Given the description of an element on the screen output the (x, y) to click on. 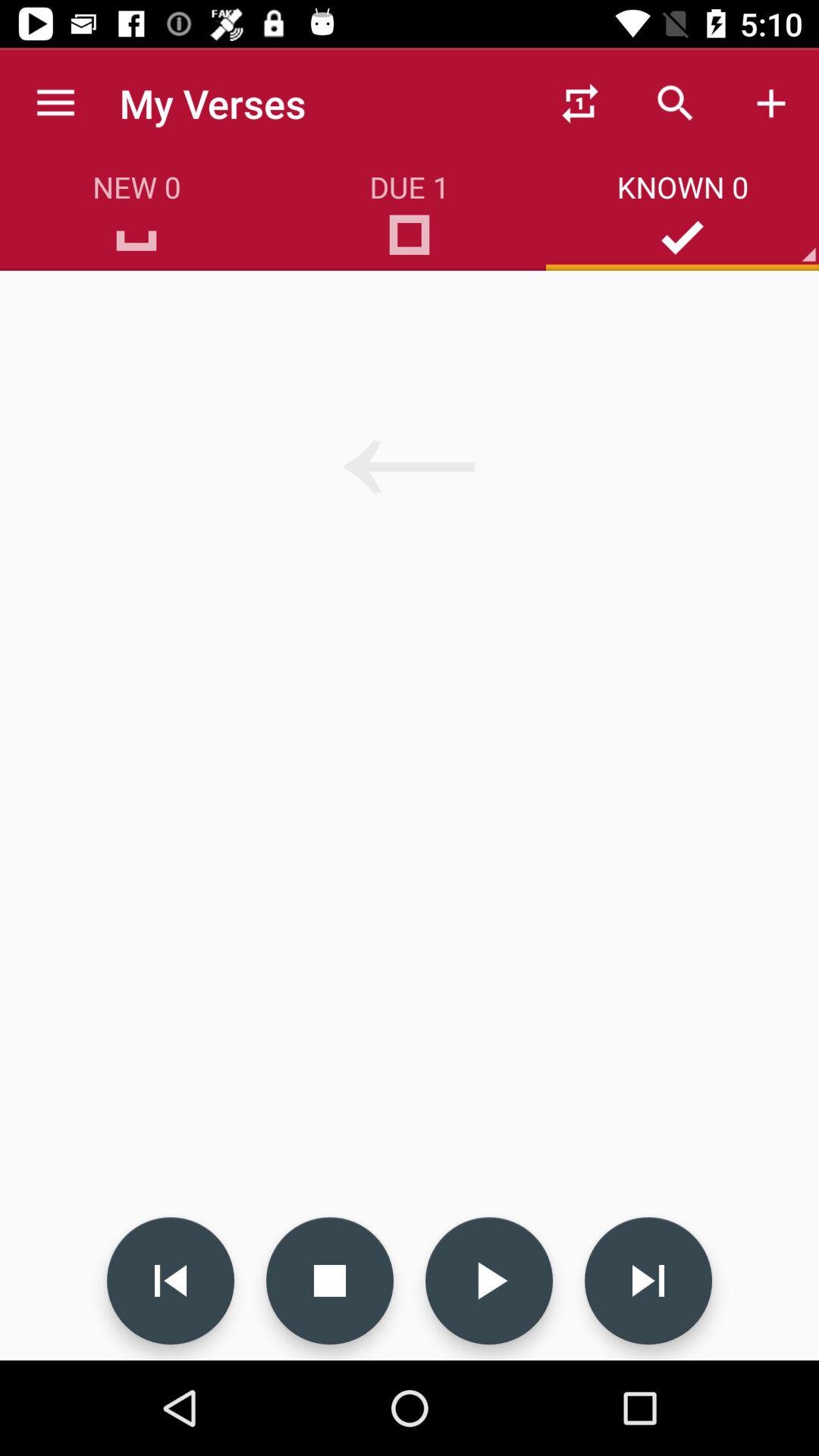
click on the next button (647, 1280)
click on icon below due 1 (409, 240)
click on the first icon on the top (580, 103)
click on the button which is next to my verses (580, 103)
click on due 1 icon (409, 240)
